Given the description of an element on the screen output the (x, y) to click on. 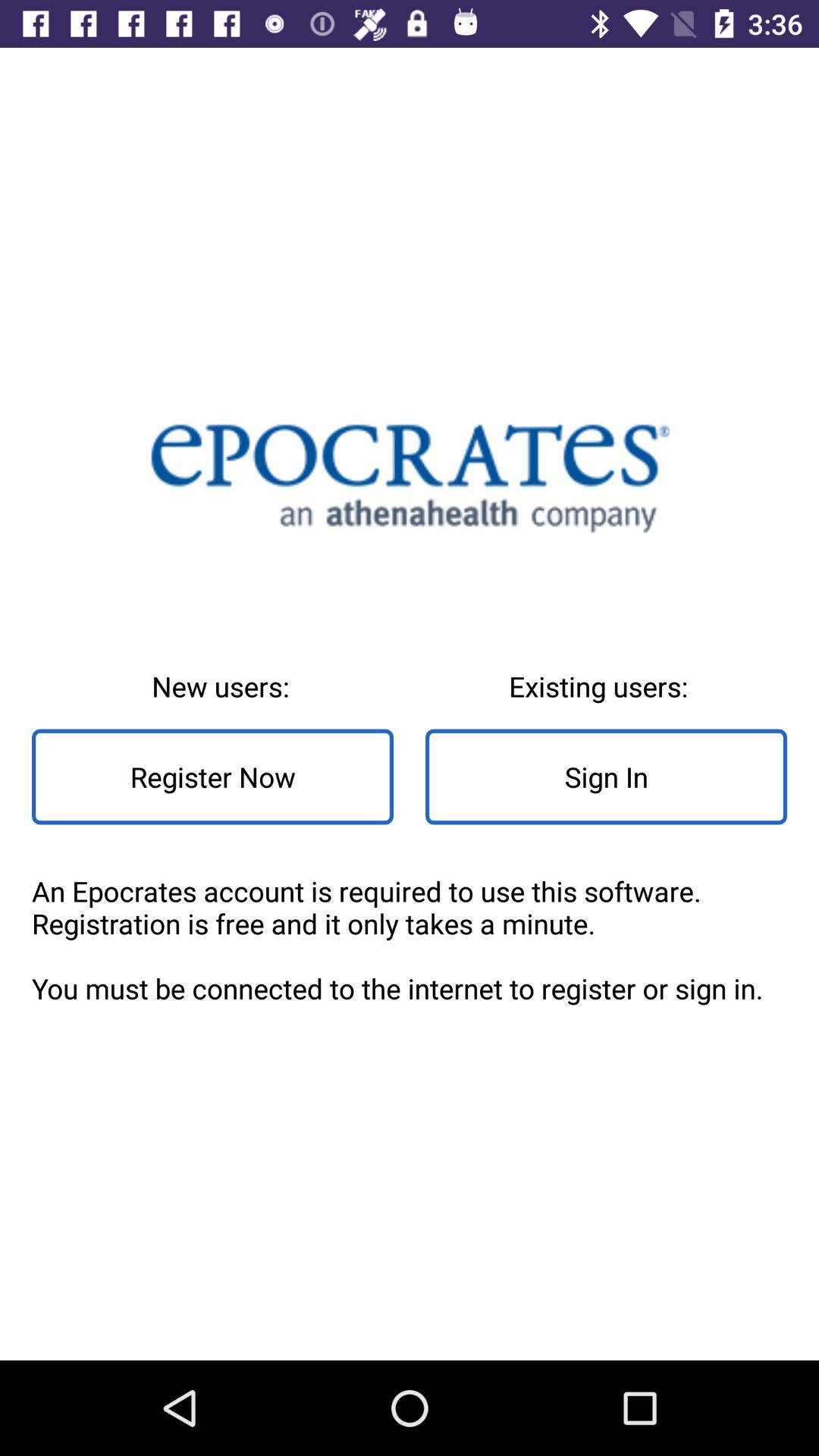
tap item below new users: item (212, 776)
